Given the description of an element on the screen output the (x, y) to click on. 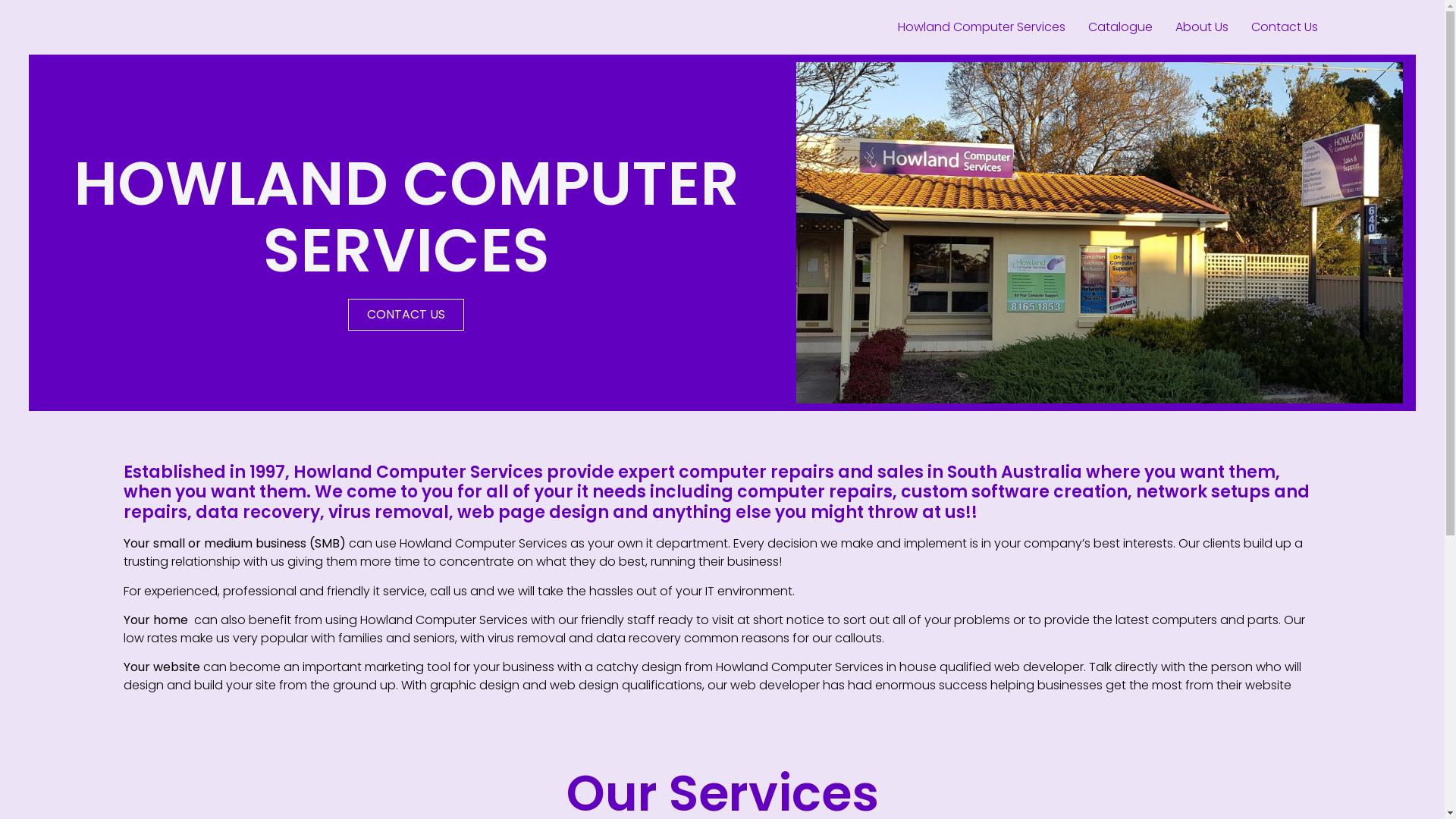
Catalogue Element type: text (1120, 27)
Howland Computer Services Element type: text (980, 27)
About Us Element type: text (1201, 27)
CONTACT US Element type: text (406, 314)
Contact Us Element type: text (1283, 27)
Howland Computer Services Element type: text (722, 78)
